Given the description of an element on the screen output the (x, y) to click on. 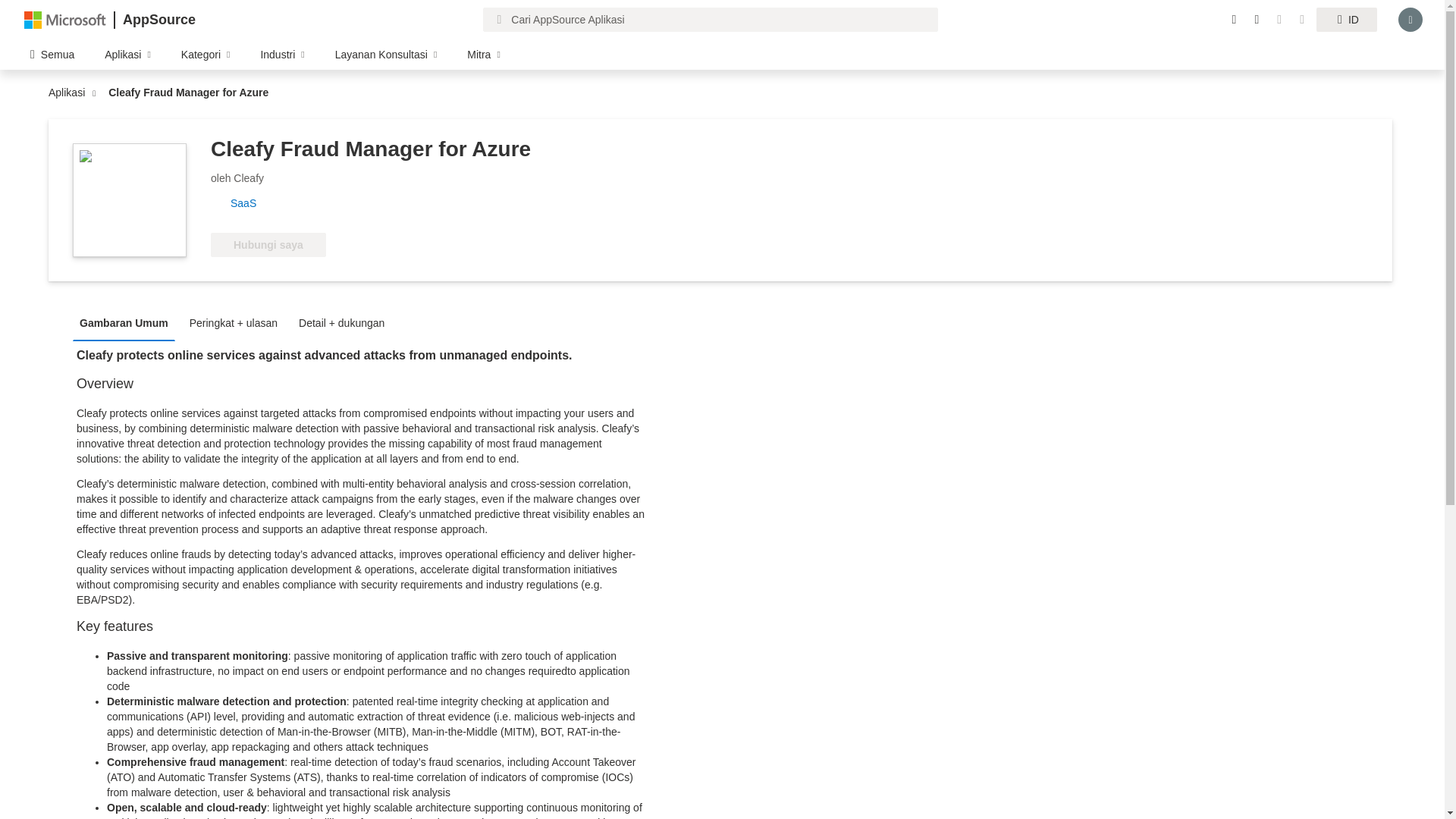
AppSource (158, 19)
Gambaran Umum (127, 322)
SaaS (248, 203)
Hubungi saya (268, 244)
SaaS (248, 203)
Microsoft (65, 18)
Aplikasi (70, 92)
